Given the description of an element on the screen output the (x, y) to click on. 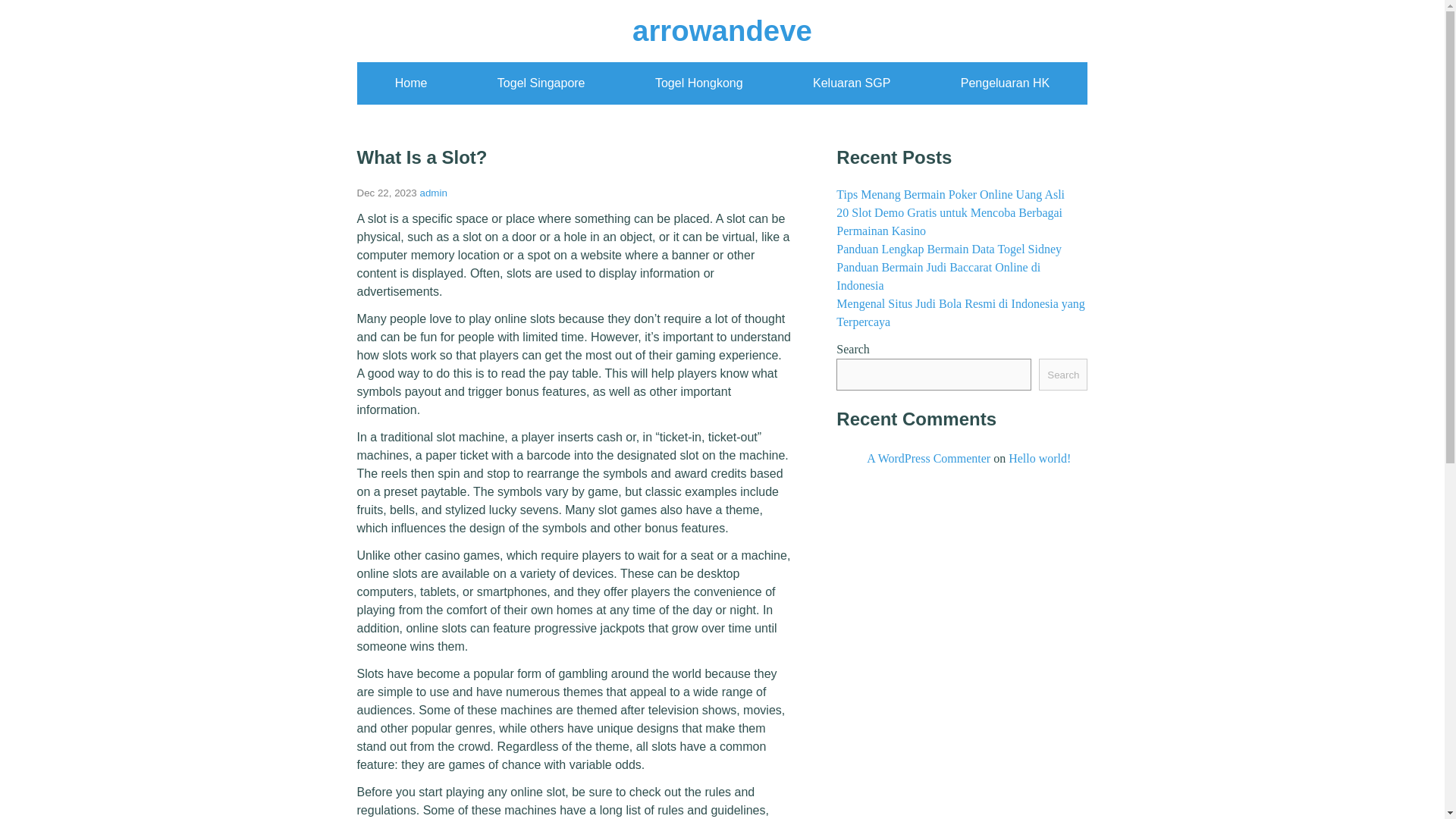
Hello world! (1039, 458)
Search (1063, 374)
Tips Menang Bermain Poker Online Uang Asli (949, 194)
Mengenal Situs Judi Bola Resmi di Indonesia yang Terpercaya (959, 312)
Togel Hongkong (698, 82)
Keluaran SGP (850, 82)
20 Slot Demo Gratis untuk Mencoba Berbagai Permainan Kasino (948, 221)
Togel Singapore (541, 82)
Pengeluaran HK (1004, 82)
Home (411, 82)
Panduan Bermain Judi Baccarat Online di Indonesia (938, 276)
arrowandeve (721, 30)
Panduan Lengkap Bermain Data Togel Sidney (948, 248)
A WordPress Commenter (928, 458)
admin (433, 193)
